Given the description of an element on the screen output the (x, y) to click on. 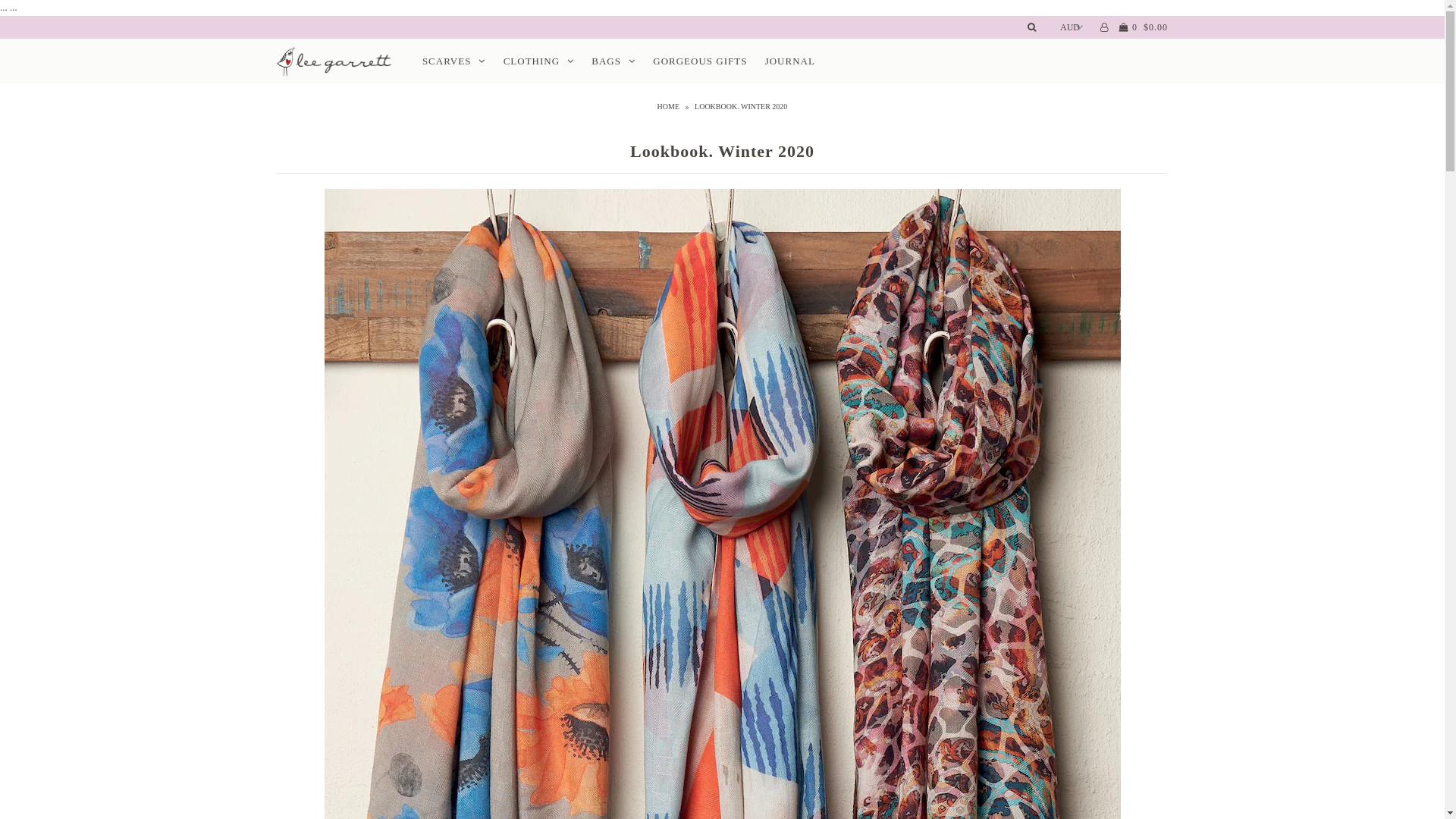
  0  $0.00 Element type: text (1141, 26)
BAGS Element type: text (613, 60)
SCARVES Element type: text (453, 60)
JOURNAL Element type: text (789, 60)
HOME Element type: text (670, 106)
CLOTHING Element type: text (538, 60)
GORGEOUS GIFTS Element type: text (699, 60)
